Given the description of an element on the screen output the (x, y) to click on. 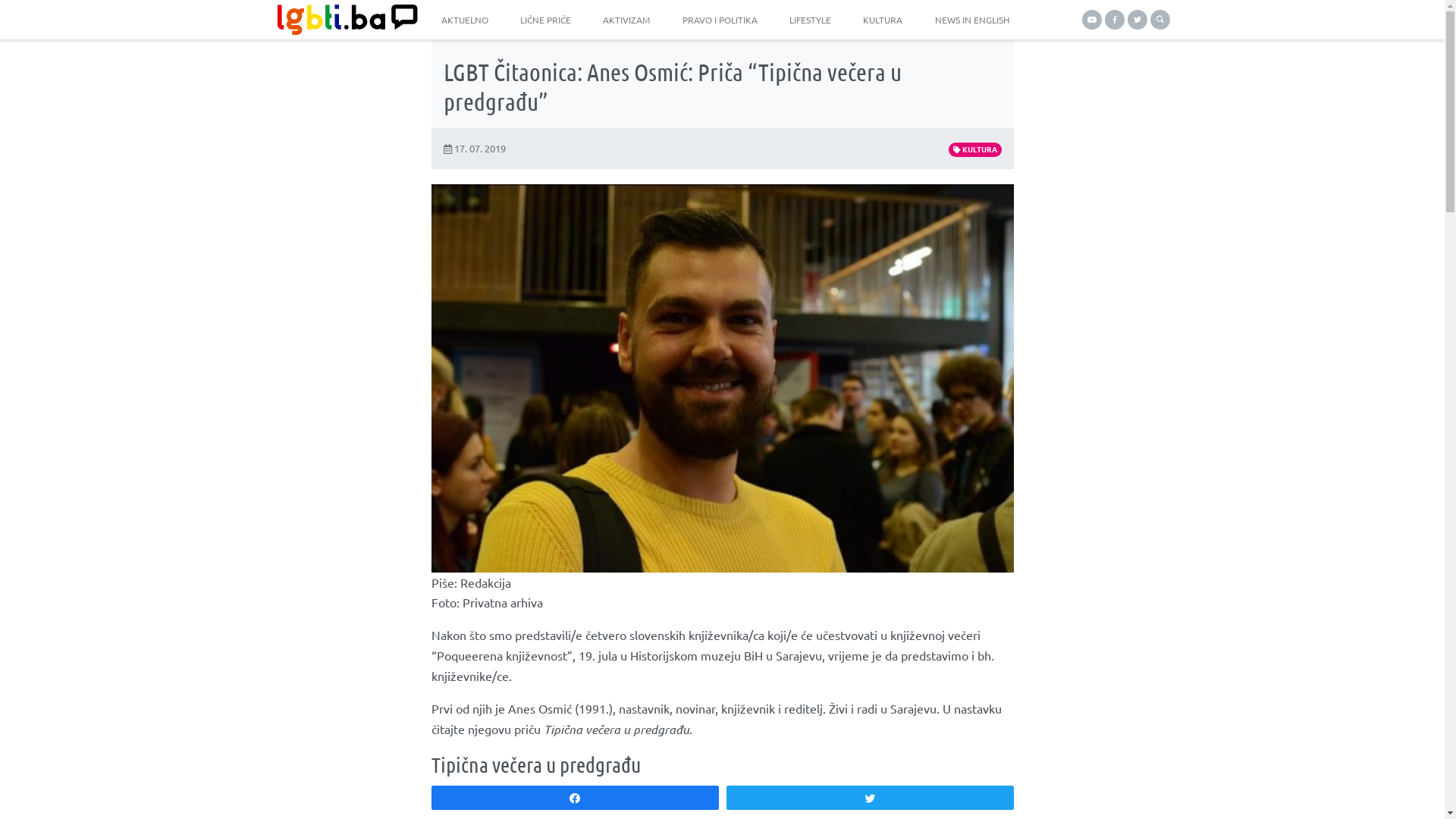
AKTUELNO Element type: text (464, 19)
Twitter Element type: hover (1136, 19)
KULTURA Element type: text (974, 149)
YouTube Element type: hover (1091, 19)
AKTIVIZAM Element type: text (625, 19)
NEWS IN ENGLISH Element type: text (971, 19)
LIFESTYLE Element type: text (810, 19)
LGBTI.ba Element type: hover (342, 19)
Facebook Element type: hover (1113, 19)
KULTURA Element type: text (882, 19)
PRAVO I POLITIKA Element type: text (719, 19)
Pretraga Element type: hover (1159, 19)
